Given the description of an element on the screen output the (x, y) to click on. 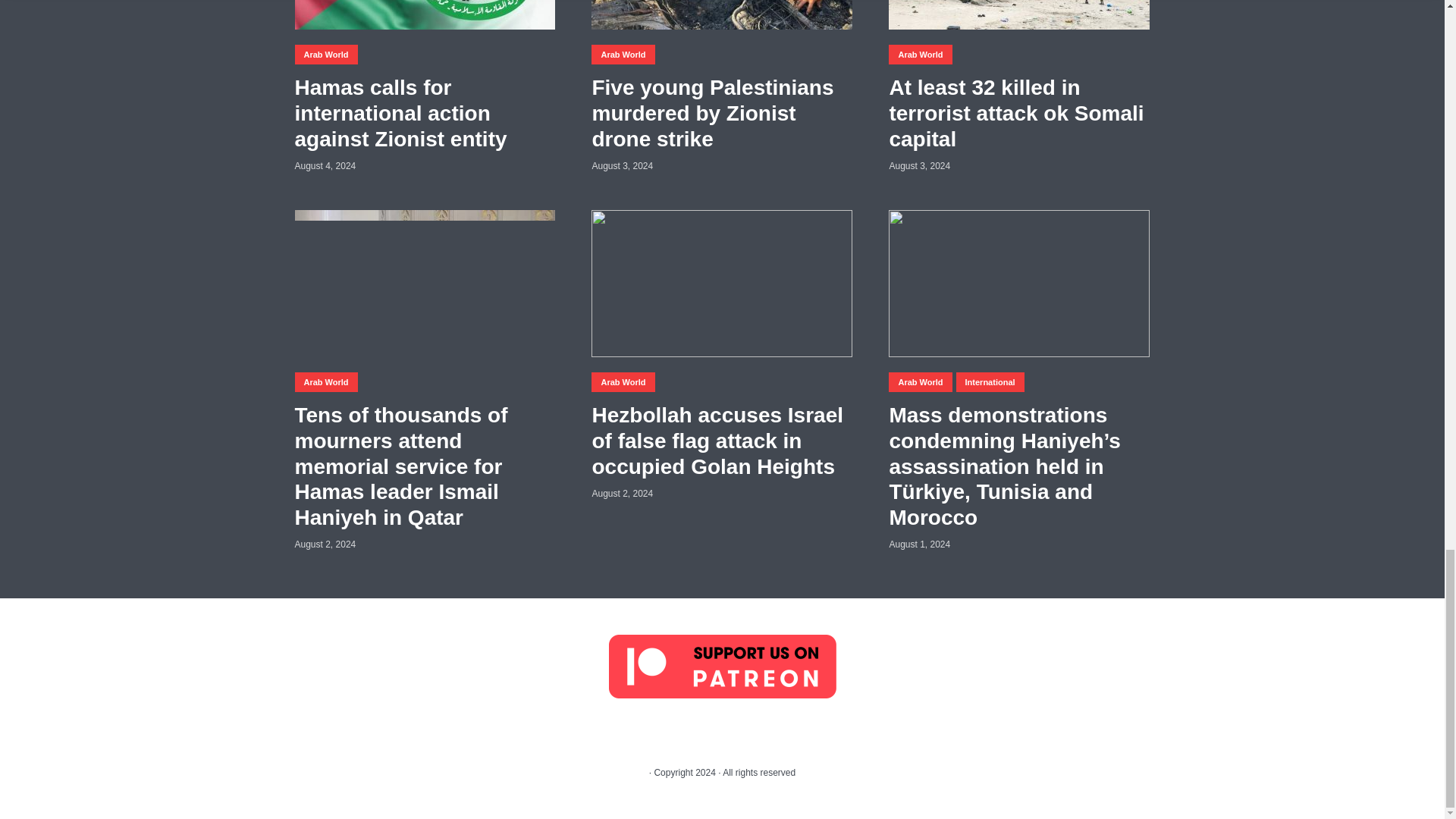
Arab World (325, 54)
